Given the description of an element on the screen output the (x, y) to click on. 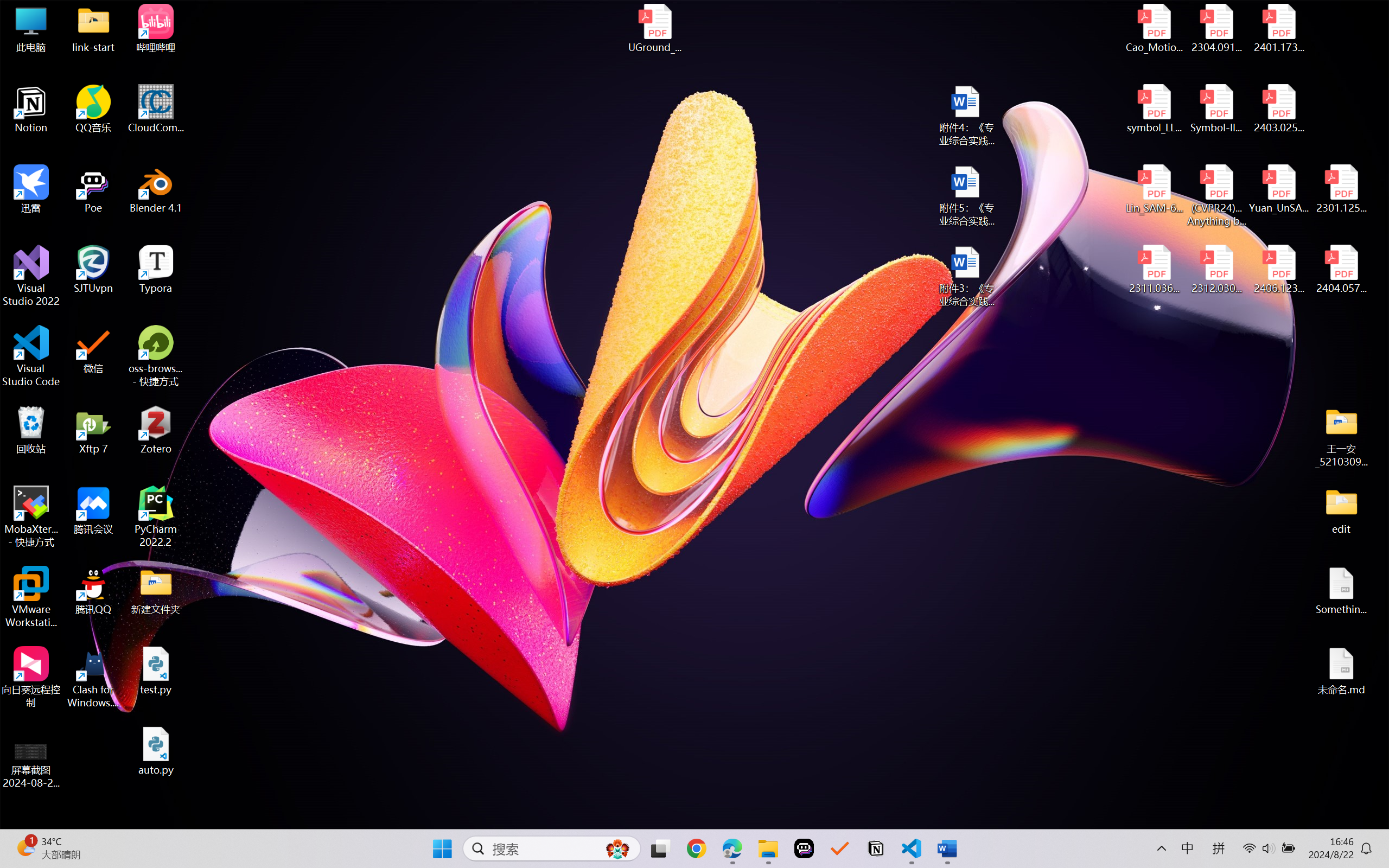
Xftp 7 (93, 430)
Symbol-llm-v2.pdf (1216, 109)
PyCharm 2022.2 (156, 516)
Blender 4.1 (156, 189)
2401.17399v1.pdf (1278, 28)
